Given the description of an element on the screen output the (x, y) to click on. 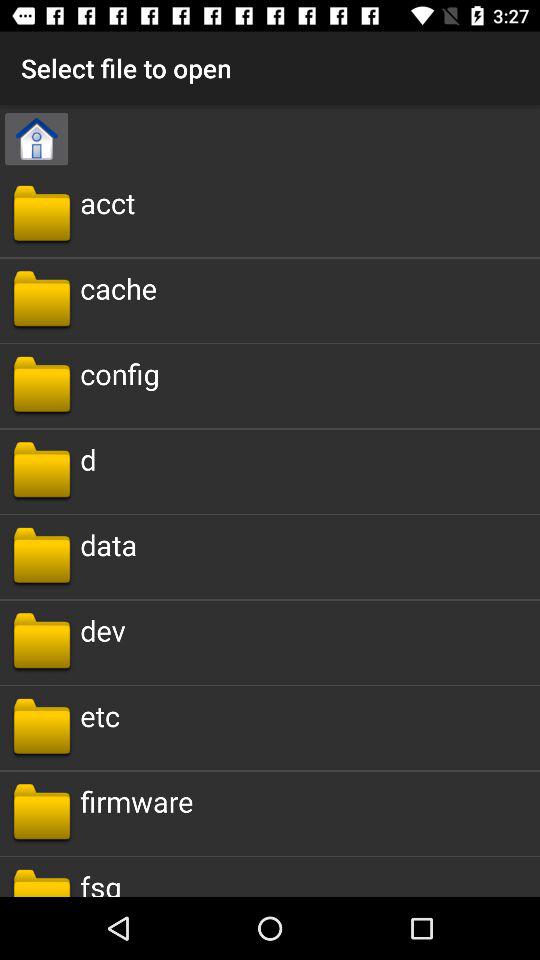
tap config app (119, 373)
